Given the description of an element on the screen output the (x, y) to click on. 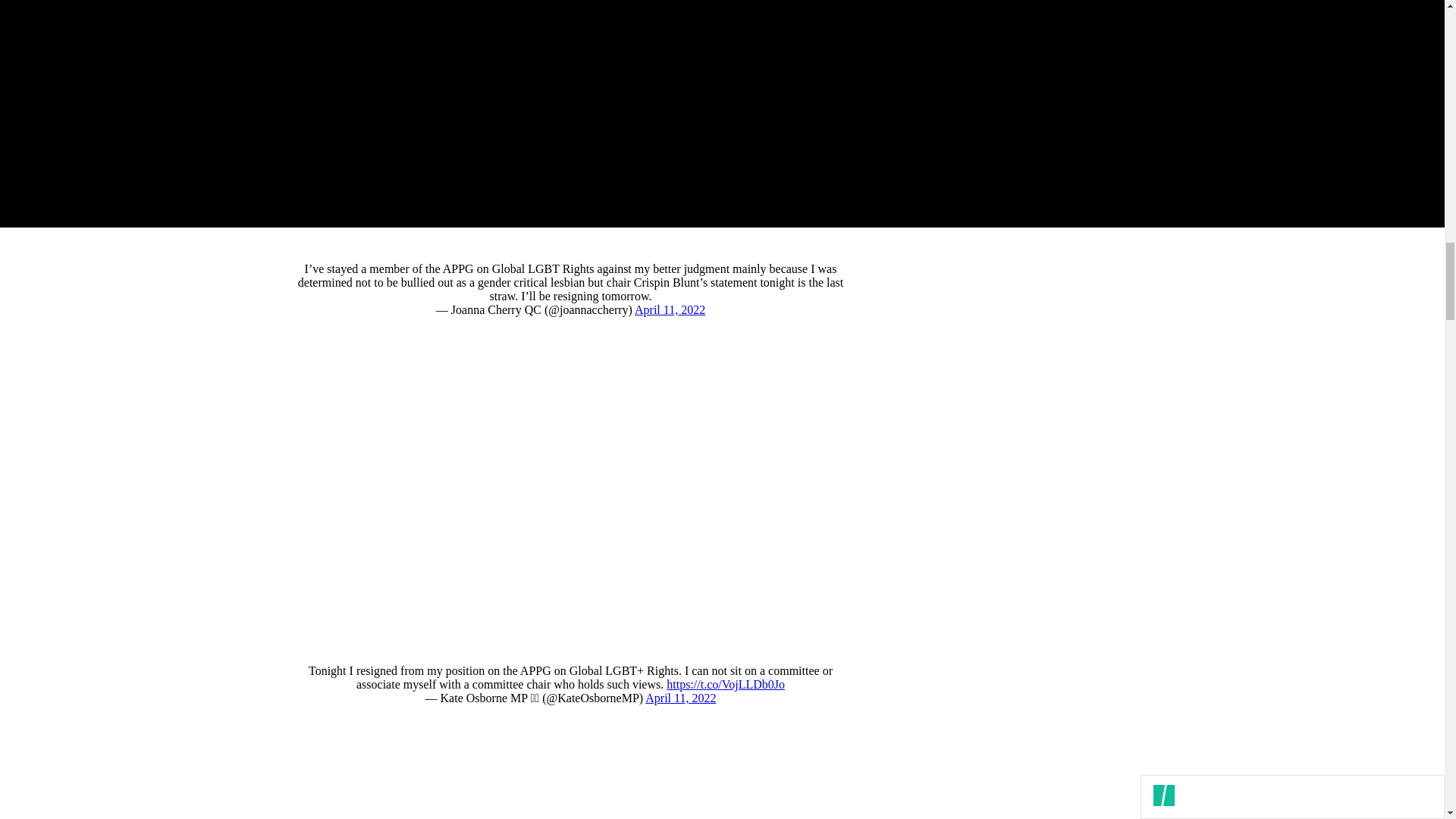
SIGN UP (1098, 144)
